Given the description of an element on the screen output the (x, y) to click on. 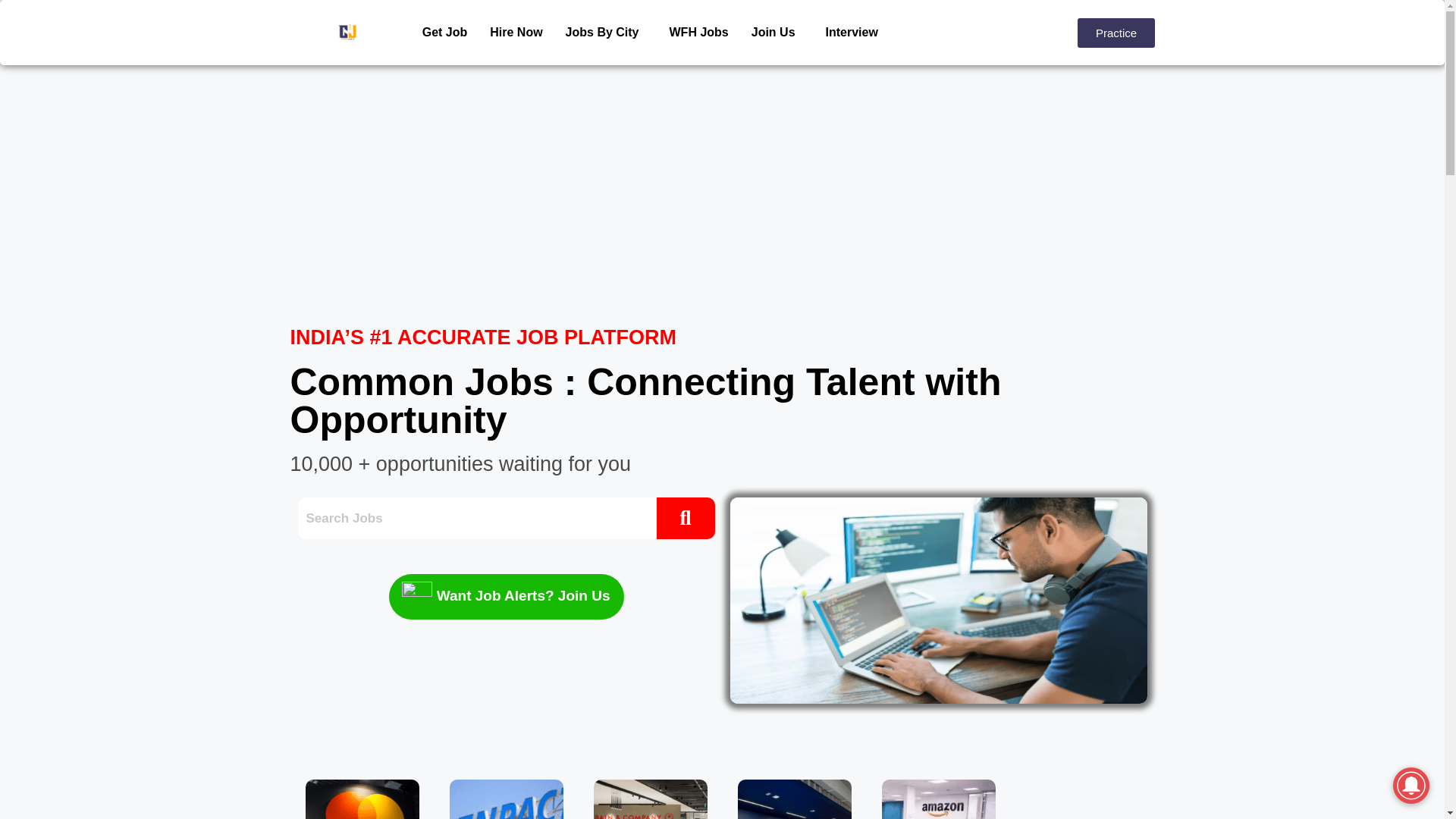
Interview (851, 32)
Jobs By City (606, 32)
Hire Now (516, 32)
Search (476, 517)
Get Job (444, 32)
Want Job Alerts? Join Us (505, 596)
Join Us (776, 32)
WFH Jobs (698, 32)
Practice (1115, 32)
